Given the description of an element on the screen output the (x, y) to click on. 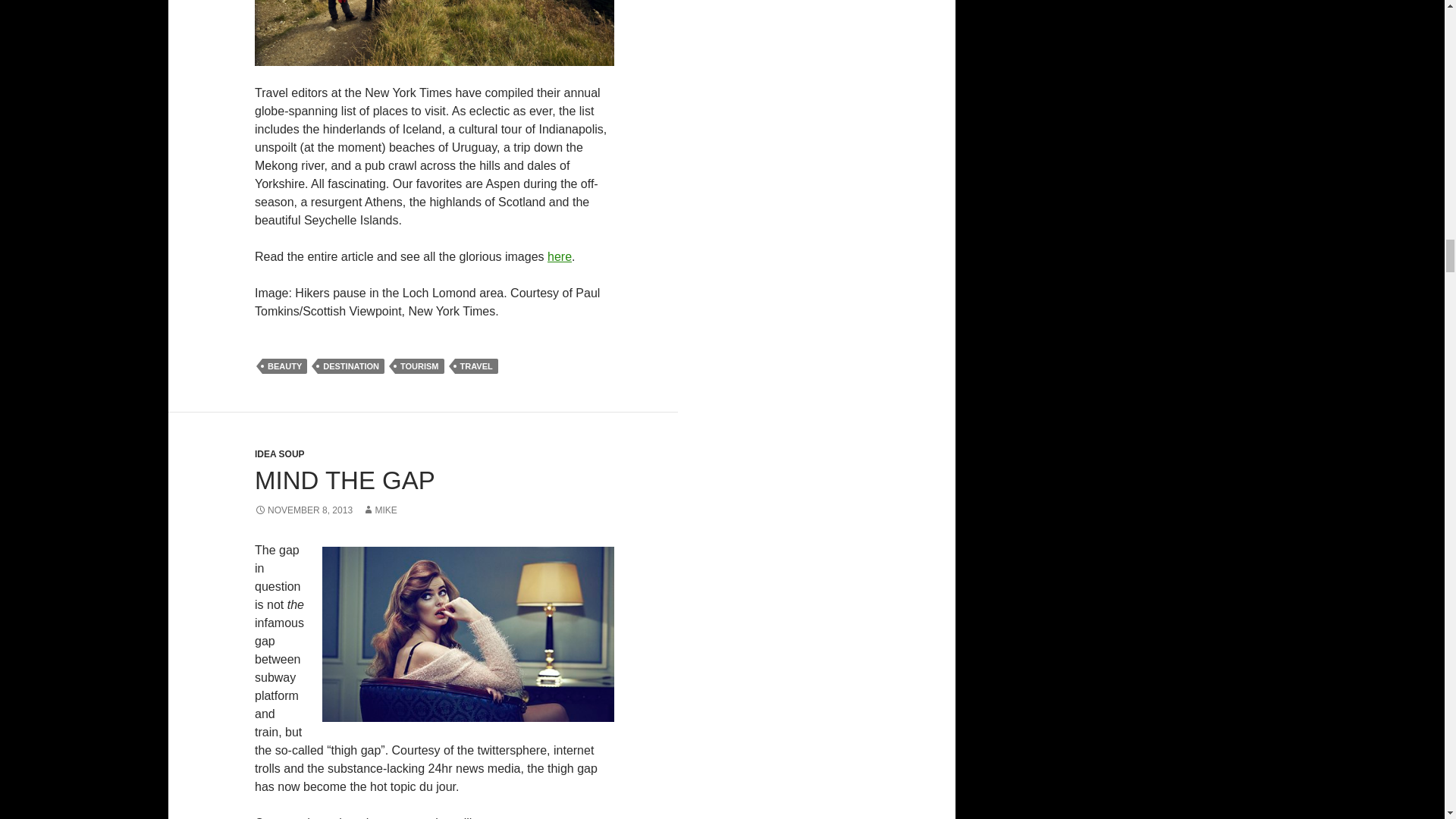
52 Places to Go in 2014 (559, 256)
Robyn Lawley (467, 634)
